Given the description of an element on the screen output the (x, y) to click on. 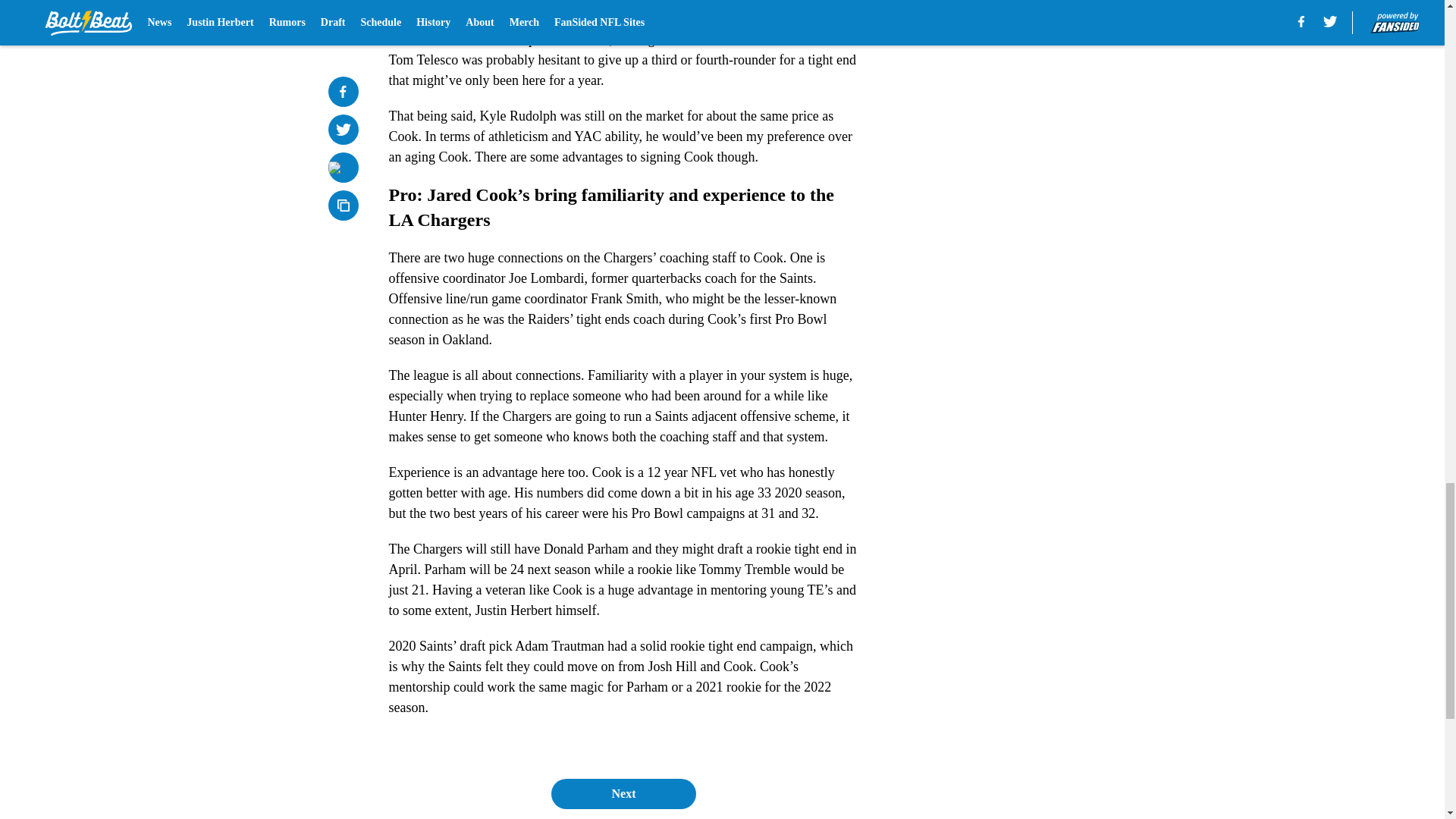
Next (622, 793)
